Given the description of an element on the screen output the (x, y) to click on. 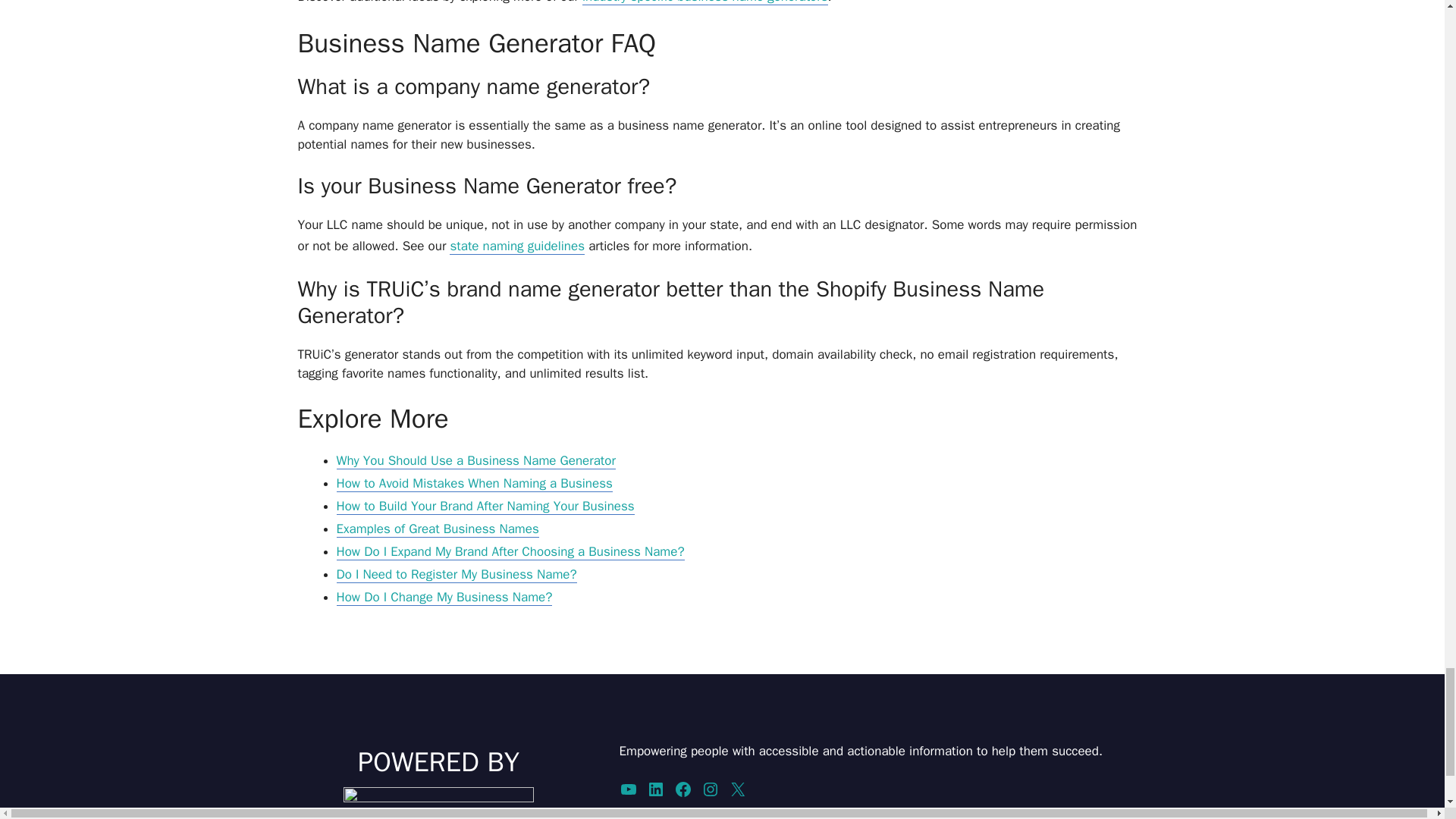
industry-specific business name generators (705, 2)
state naming guidelines (517, 246)
How to Build Your Brand After Naming Your Business (485, 506)
Why You Should Use a Business Name Generator (475, 460)
How to Avoid Mistakes When Naming a Business (474, 483)
